Given the description of an element on the screen output the (x, y) to click on. 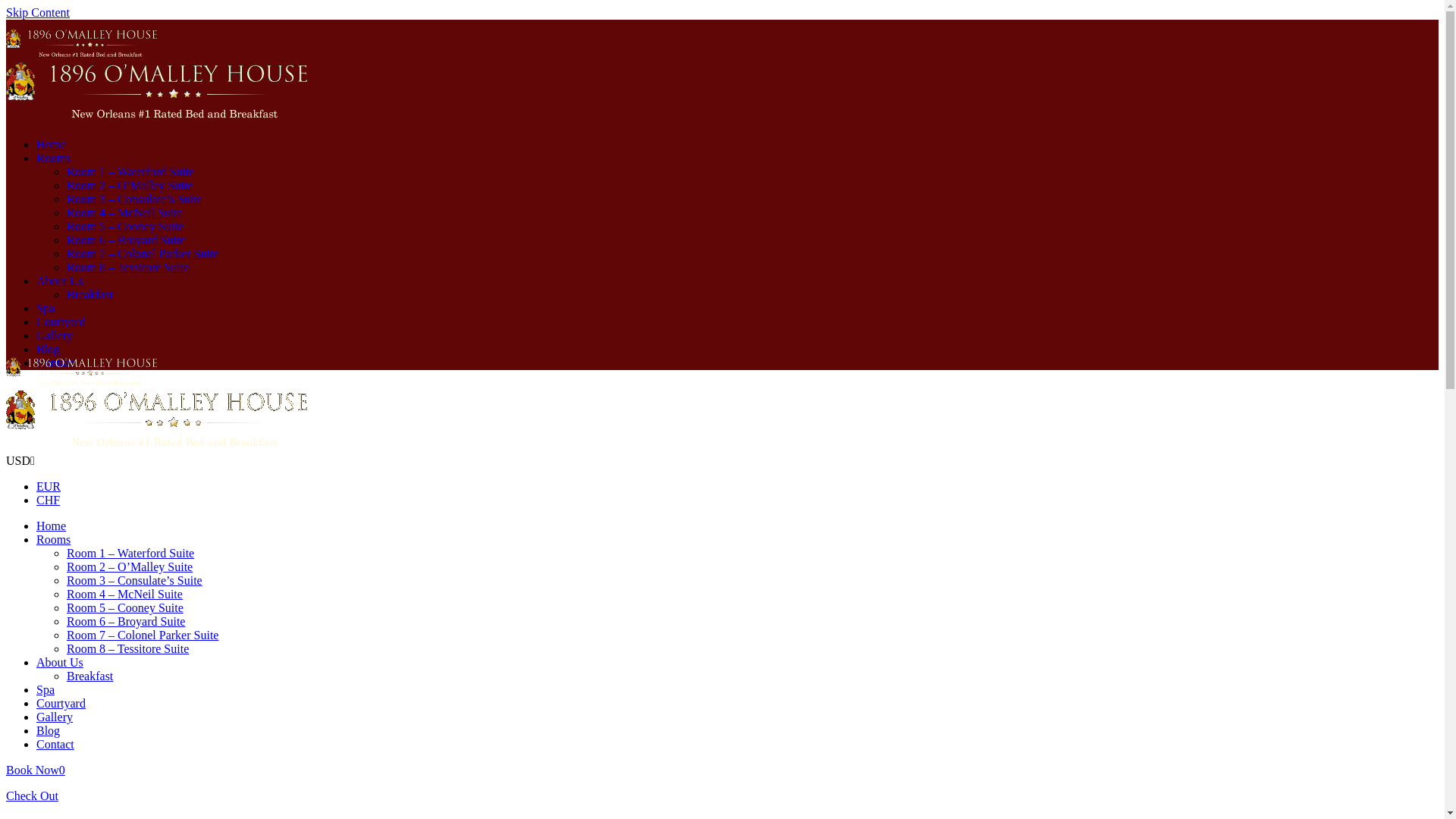
EUR Element type: text (48, 486)
Breakfast Element type: text (89, 675)
Blog Element type: text (47, 348)
Book Now0 Element type: text (35, 769)
Rooms Element type: text (53, 539)
Courtyard Element type: text (60, 321)
Gallery Element type: text (54, 335)
Spa Element type: text (45, 689)
Check Out Element type: text (32, 795)
Home Element type: text (50, 144)
Breakfast Element type: text (89, 294)
Blog Element type: text (47, 730)
Skip Content Element type: text (37, 12)
About Us Element type: text (59, 661)
Rooms Element type: text (53, 157)
CHF Element type: text (47, 499)
logo-header Element type: hover (160, 420)
Contact Element type: text (55, 362)
About Us Element type: text (59, 280)
Courtyard Element type: text (60, 702)
Gallery Element type: text (54, 716)
Home Element type: text (50, 525)
Spa Element type: text (45, 307)
Contact Element type: text (55, 743)
